Given the description of an element on the screen output the (x, y) to click on. 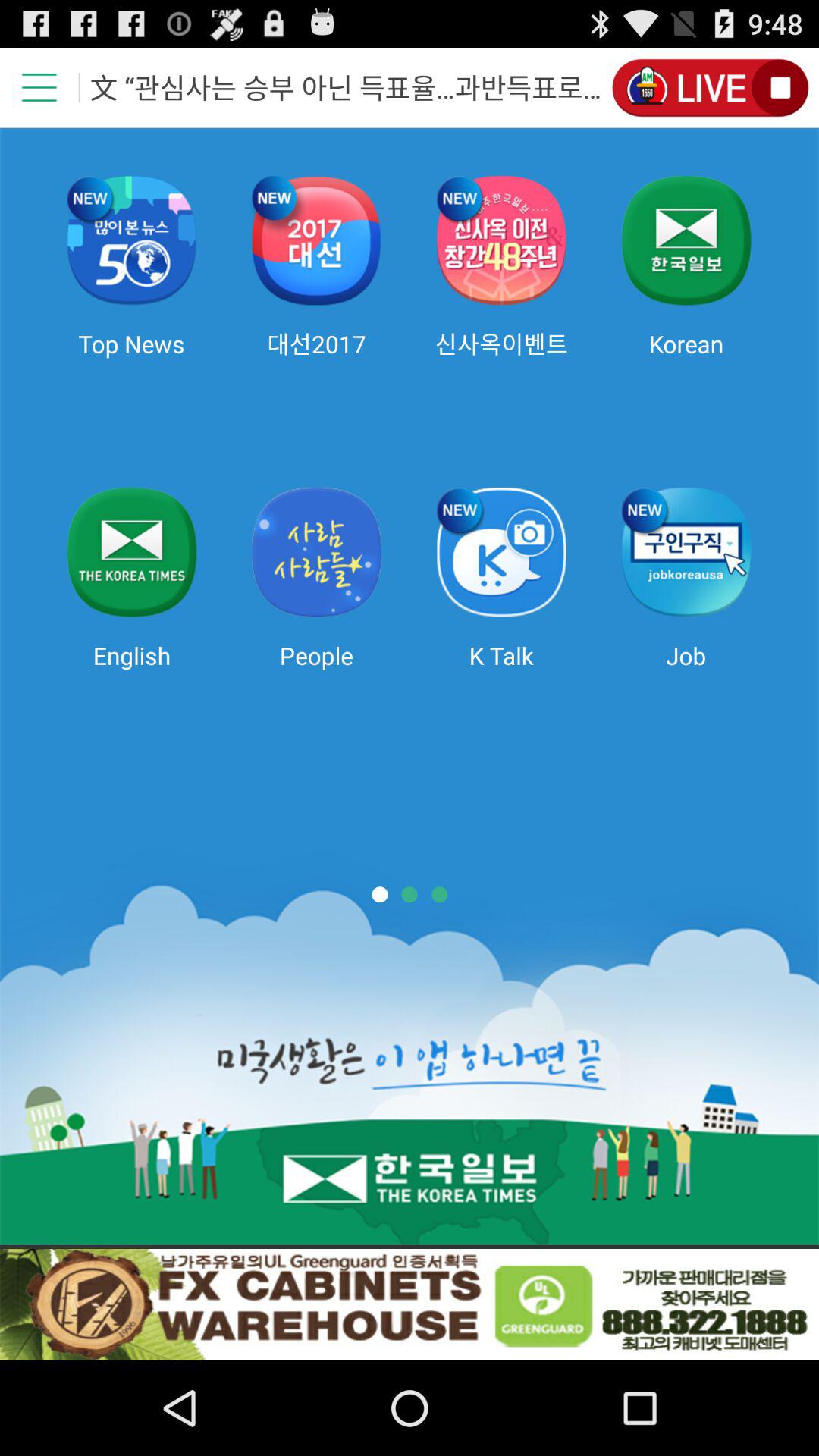
watch live broadcast (709, 87)
